Given the description of an element on the screen output the (x, y) to click on. 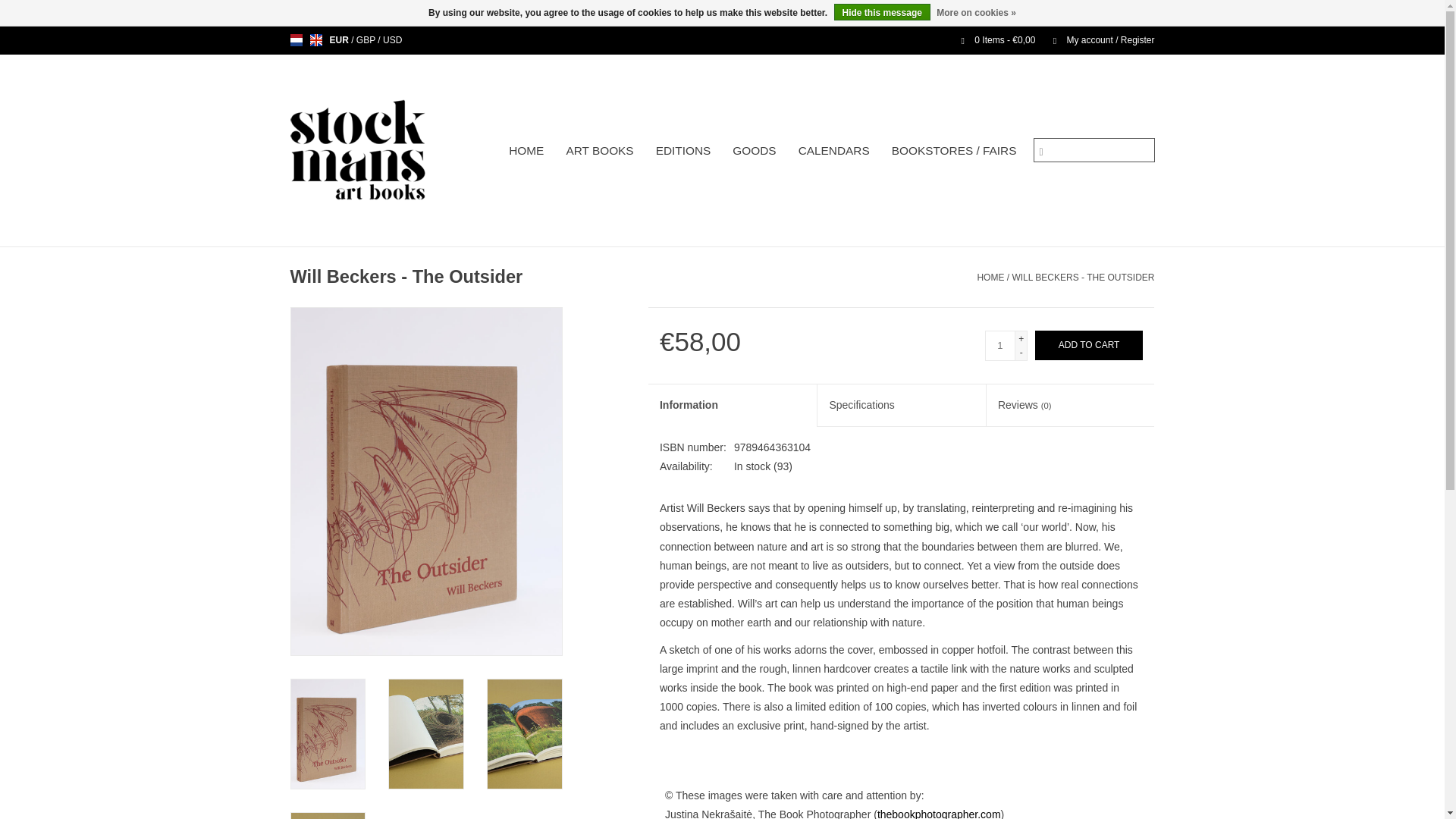
Home (990, 276)
ADD TO CART (1088, 345)
Stockmans Art Books (384, 149)
gbp (366, 40)
English (314, 39)
ART BOOKS (599, 150)
EDITIONS (683, 150)
EDITIONS (683, 150)
GOODS (753, 150)
GBP (366, 40)
